Given the description of an element on the screen output the (x, y) to click on. 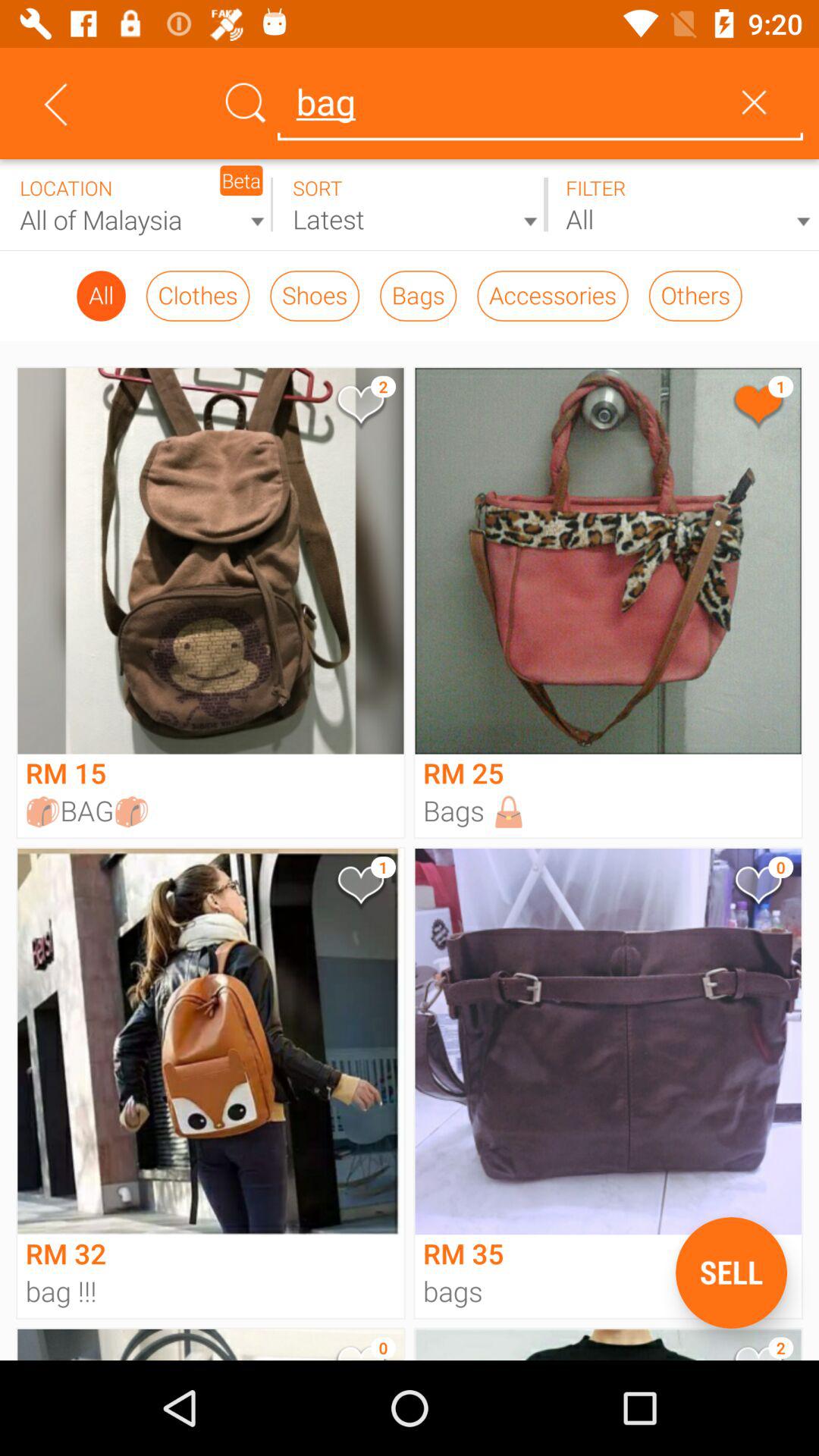
save to favorites (359, 407)
